Given the description of an element on the screen output the (x, y) to click on. 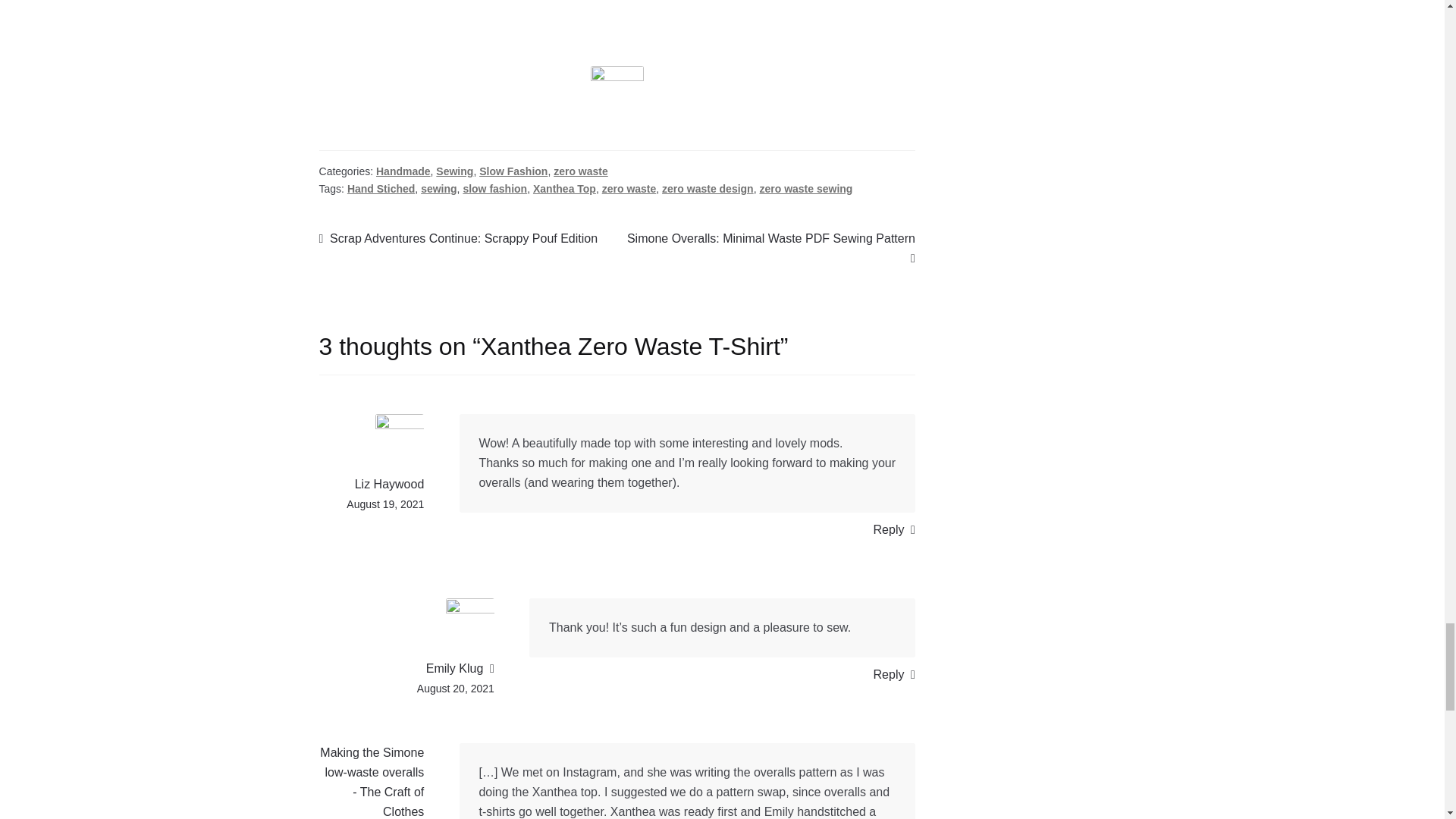
Sewing (454, 171)
Hand Stiched (380, 188)
zero waste (580, 171)
Slow Fashion (513, 171)
Handmade (402, 171)
